Given the description of an element on the screen output the (x, y) to click on. 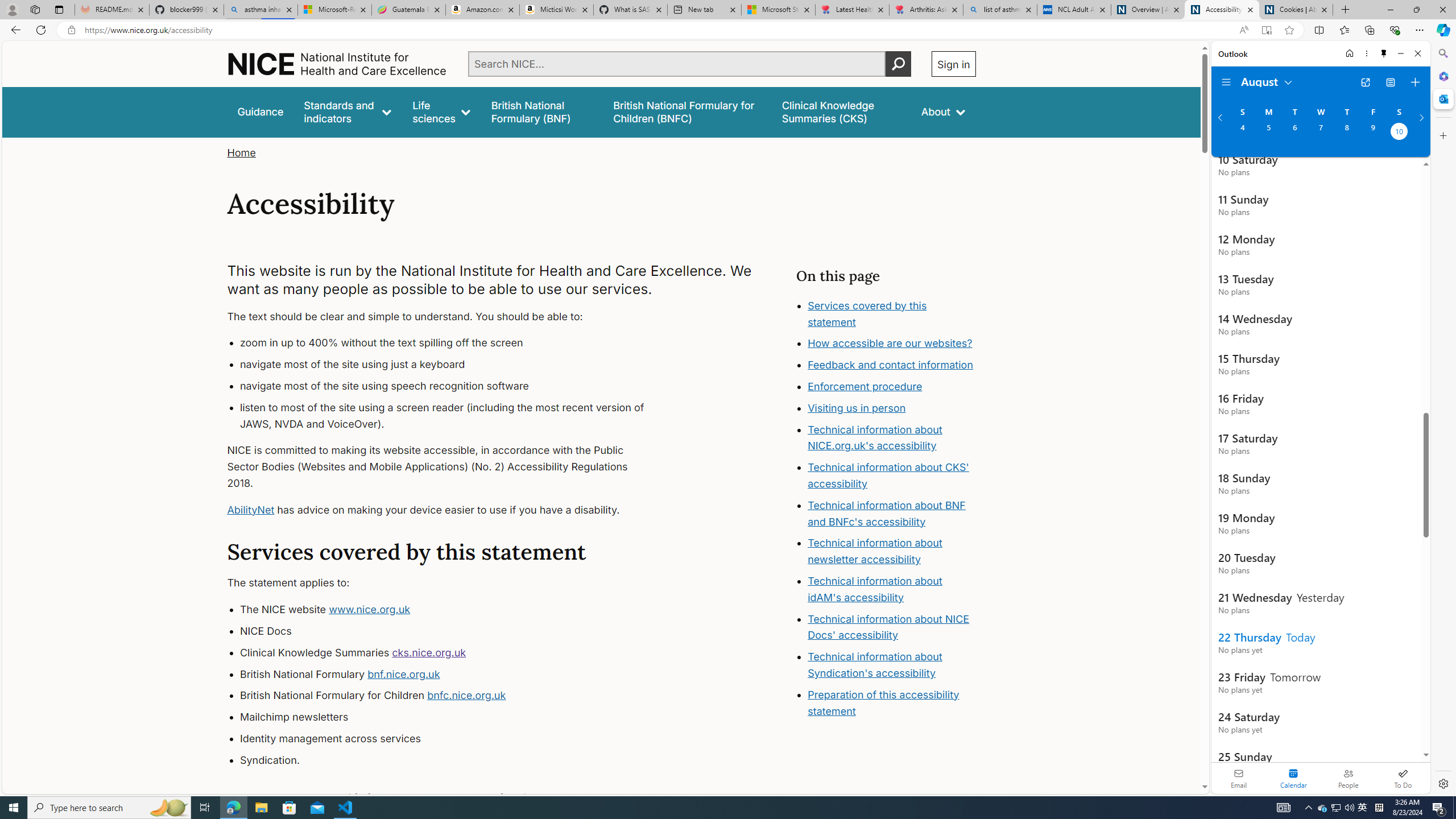
Visiting us in person (891, 407)
Accessibility | NICE (1221, 9)
August (1267, 80)
Technical information about Syndication's accessibility (875, 664)
How accessible are our websites? (890, 343)
Preparation of this accessibility statement (883, 702)
Wednesday, August 7, 2024.  (1320, 132)
